Given the description of an element on the screen output the (x, y) to click on. 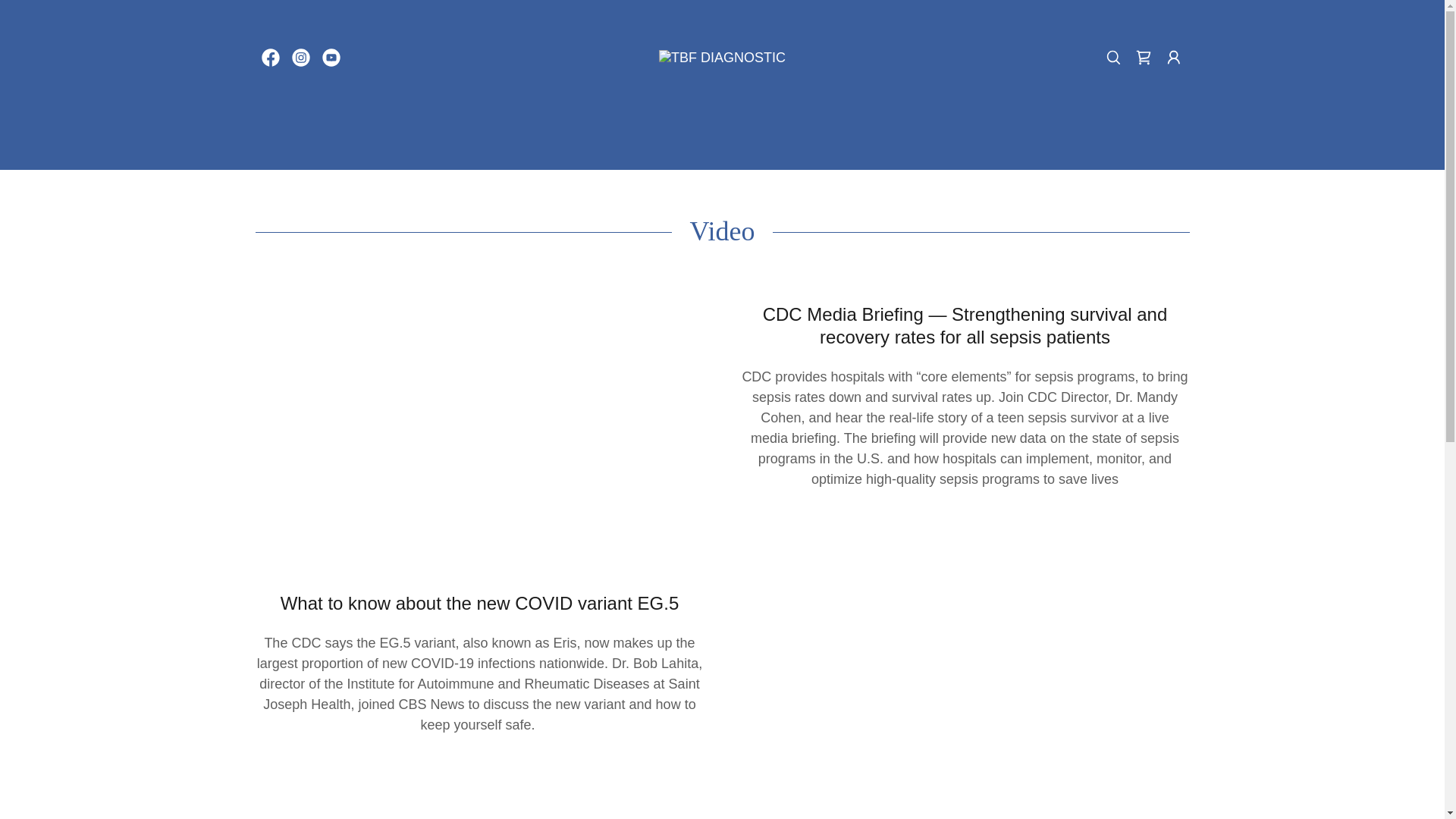
TBF DIAGNOSTIC (722, 56)
